Given the description of an element on the screen output the (x, y) to click on. 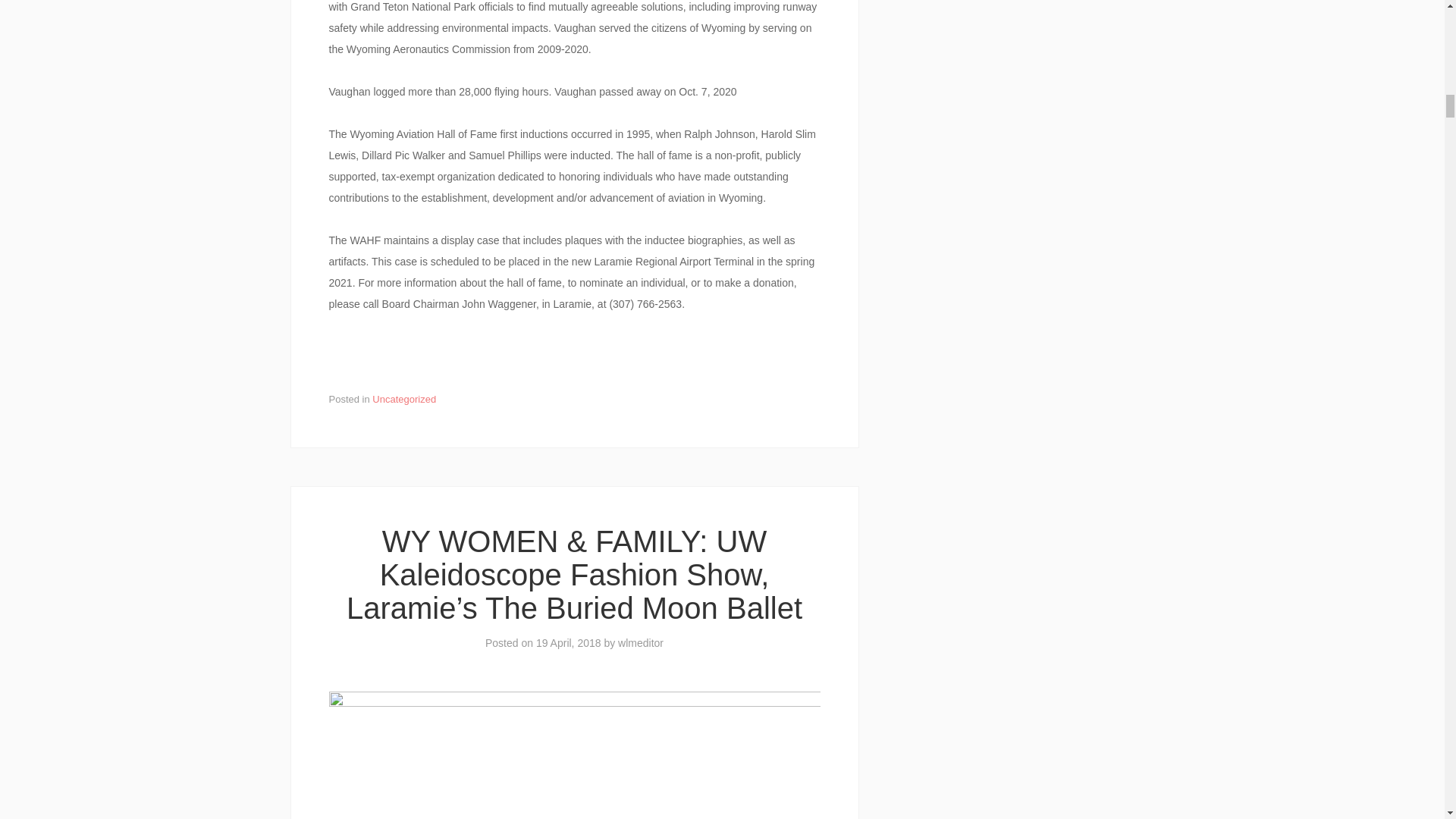
Uncategorized (403, 398)
19 April, 2018 (568, 643)
wlmeditor (640, 643)
